Given the description of an element on the screen output the (x, y) to click on. 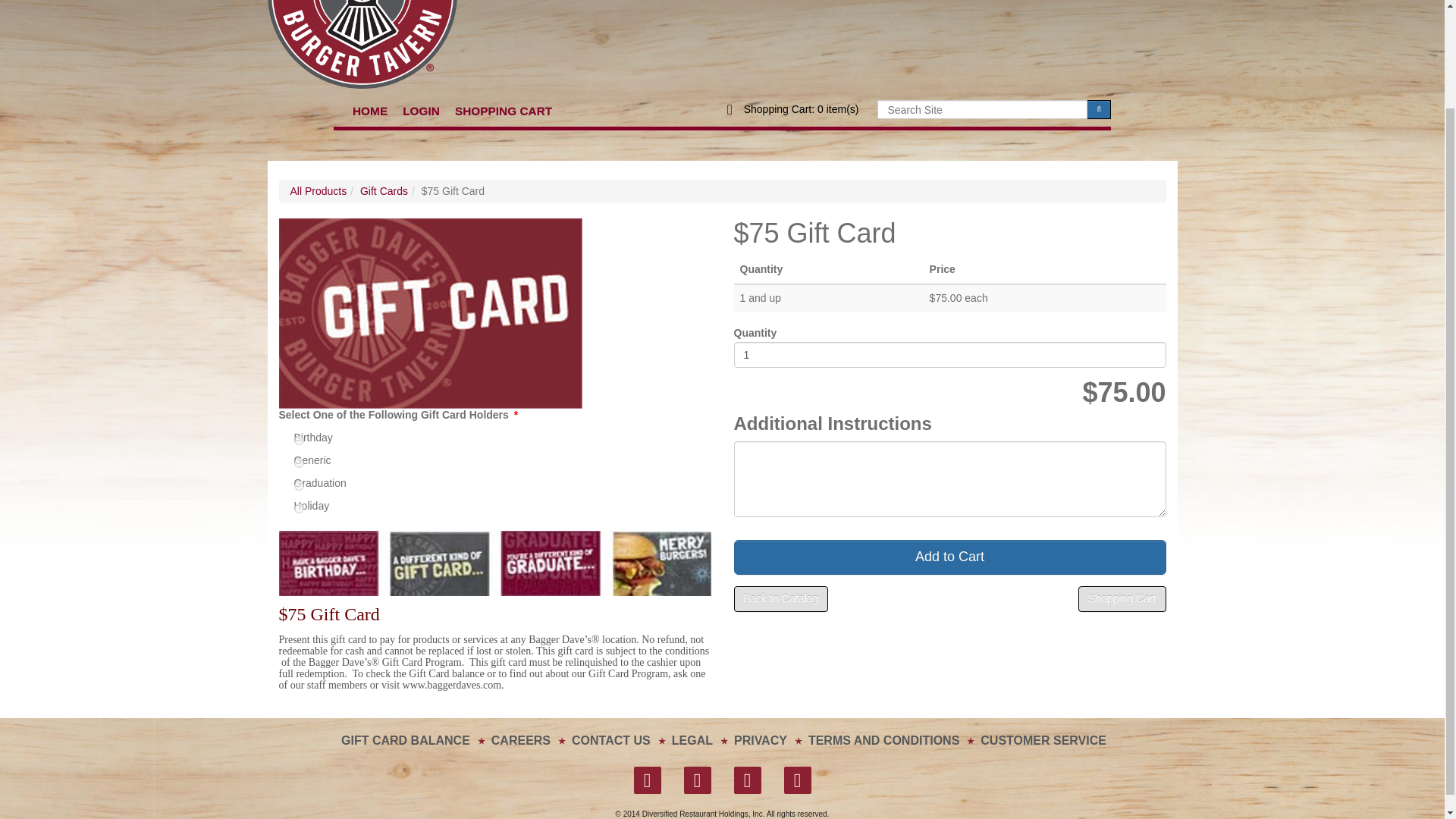
LEGAL (692, 740)
Twitter (697, 779)
Gift Cards (383, 191)
Graduation (299, 485)
Instagram (797, 779)
YouTube (747, 779)
Back to Catalog (780, 598)
GIFT CARD BALANCE (405, 740)
TERMS AND CONDITIONS (883, 740)
Generic (299, 462)
LOGIN (420, 103)
1 (949, 354)
Add to Cart (949, 556)
Birthday (299, 439)
HOME (369, 103)
